Given the description of an element on the screen output the (x, y) to click on. 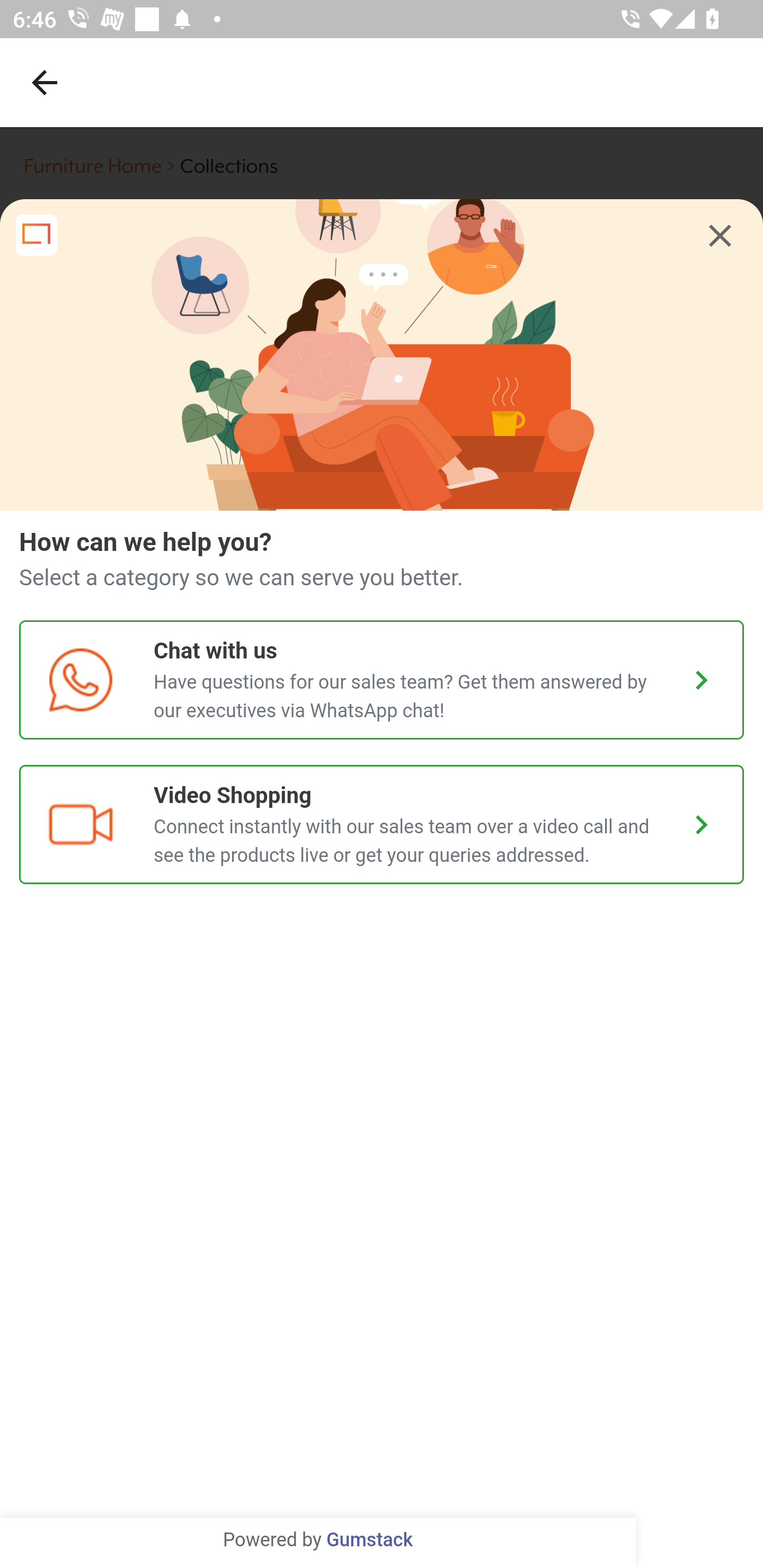
Navigate up (44, 82)
clear (720, 235)
LIST (381, 1530)
Gumstack (369, 1540)
